Given the description of an element on the screen output the (x, y) to click on. 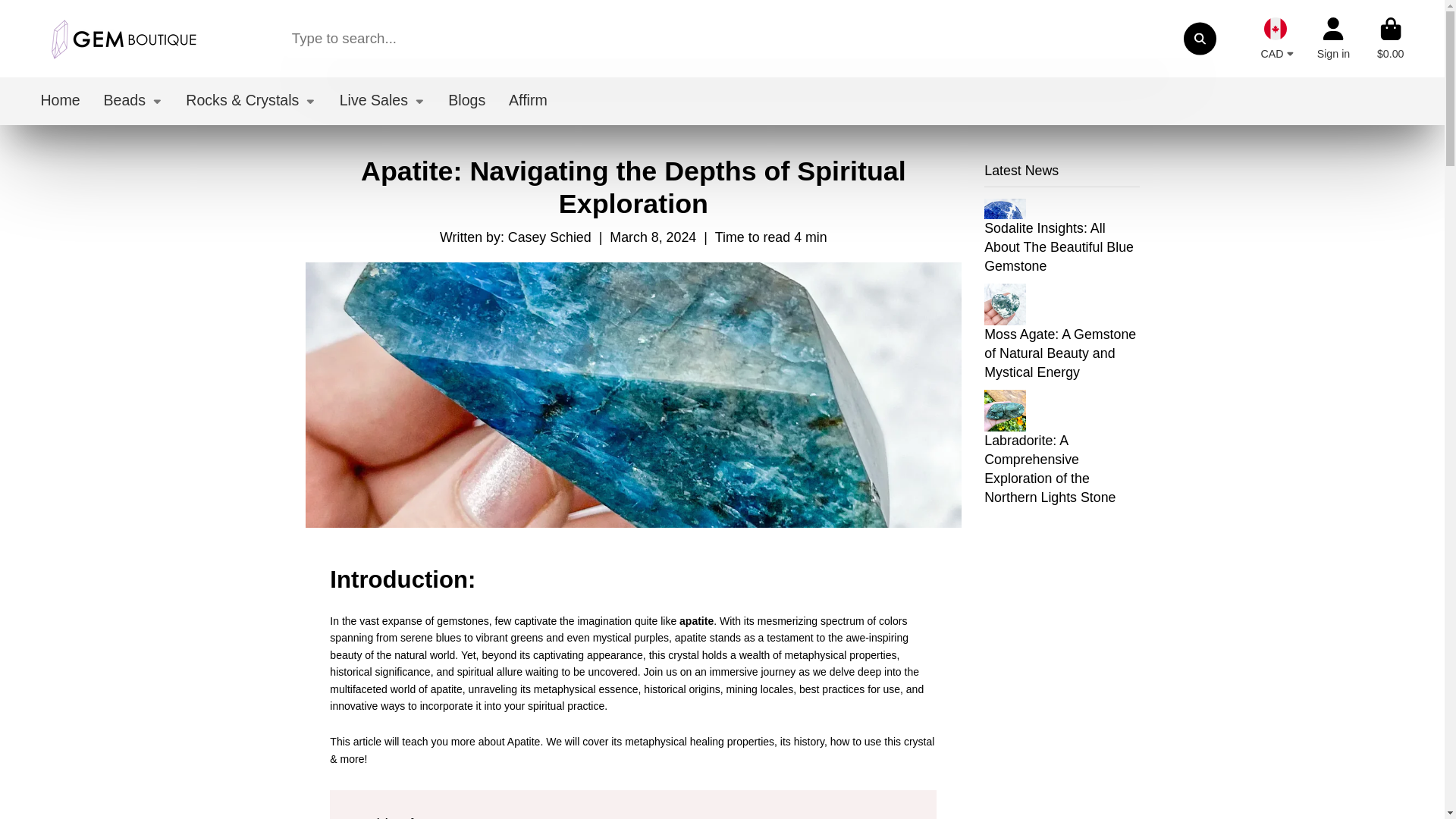
Logo (123, 38)
Beads (132, 100)
Live Sales (382, 100)
